Given the description of an element on the screen output the (x, y) to click on. 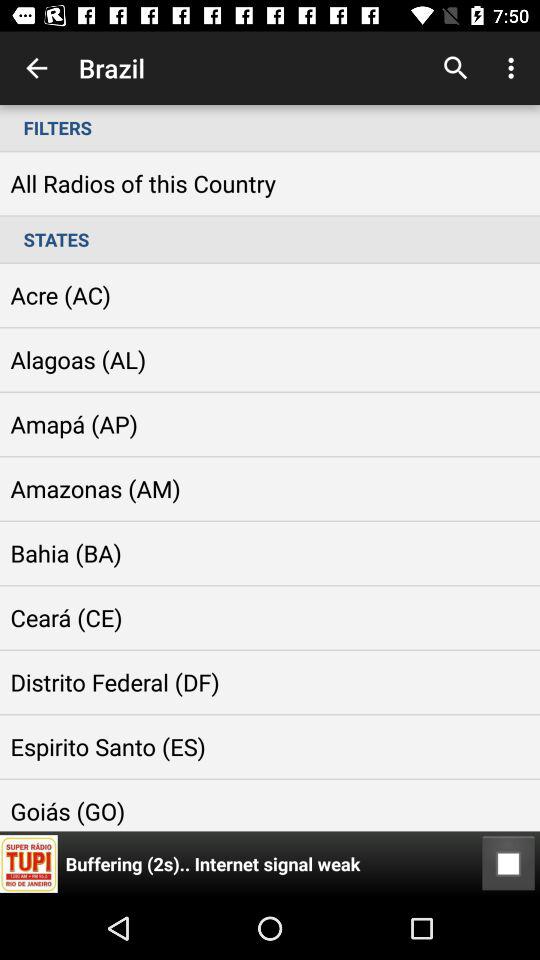
select icon at the bottom right corner (508, 863)
